Given the description of an element on the screen output the (x, y) to click on. 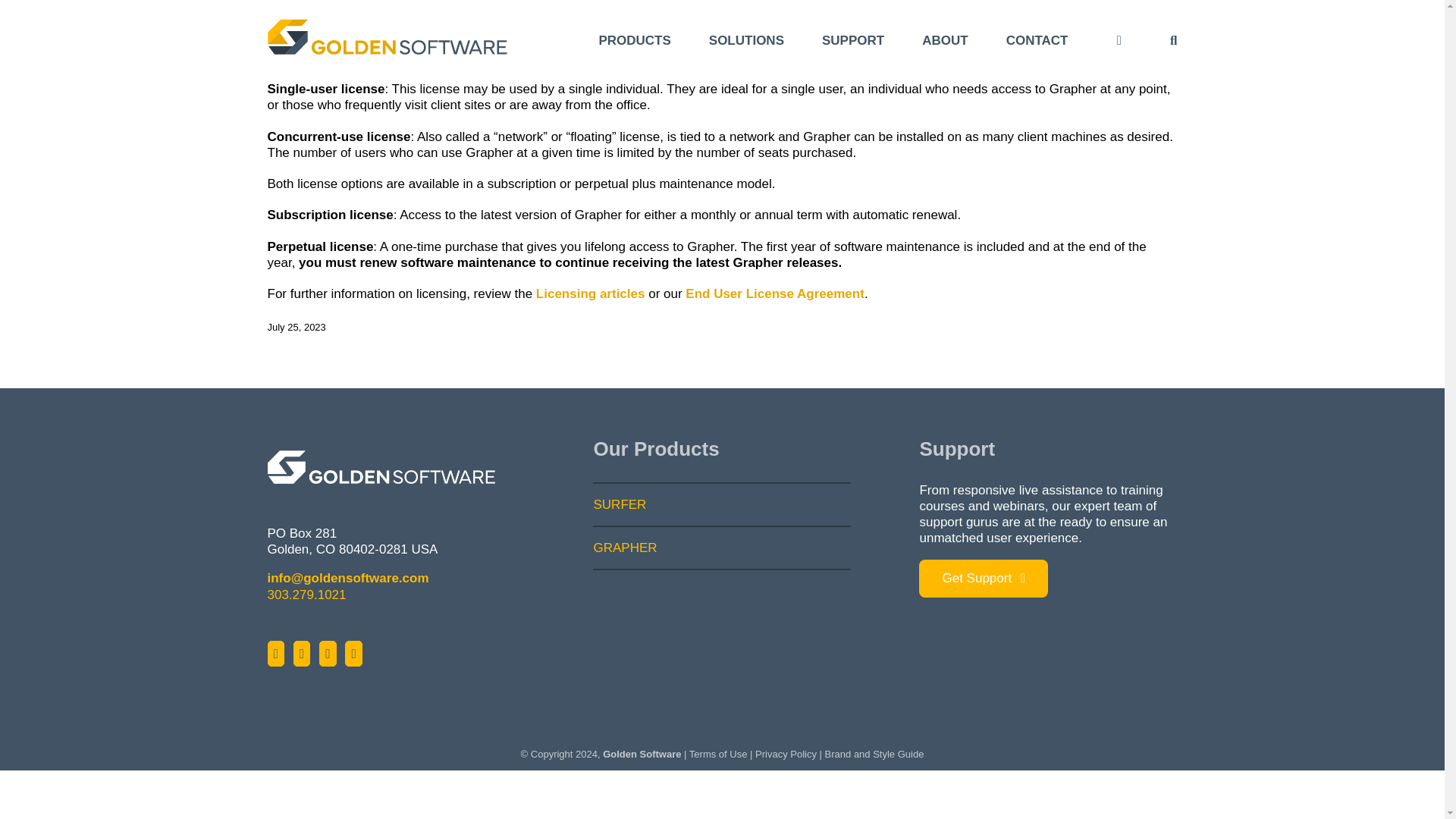
SOLUTIONS (746, 40)
